Given the description of an element on the screen output the (x, y) to click on. 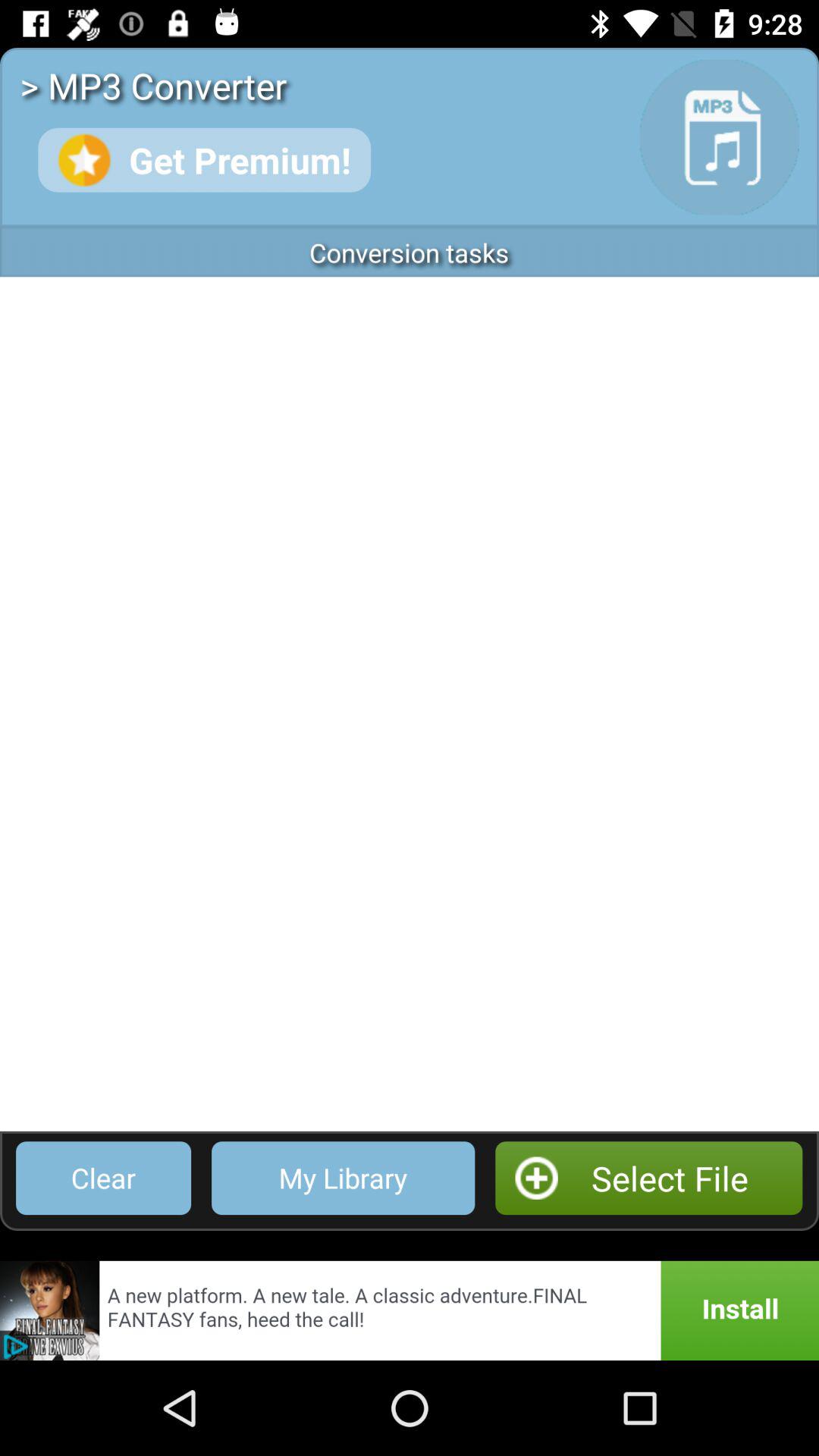
swipe until the   get premium! (204, 159)
